Given the description of an element on the screen output the (x, y) to click on. 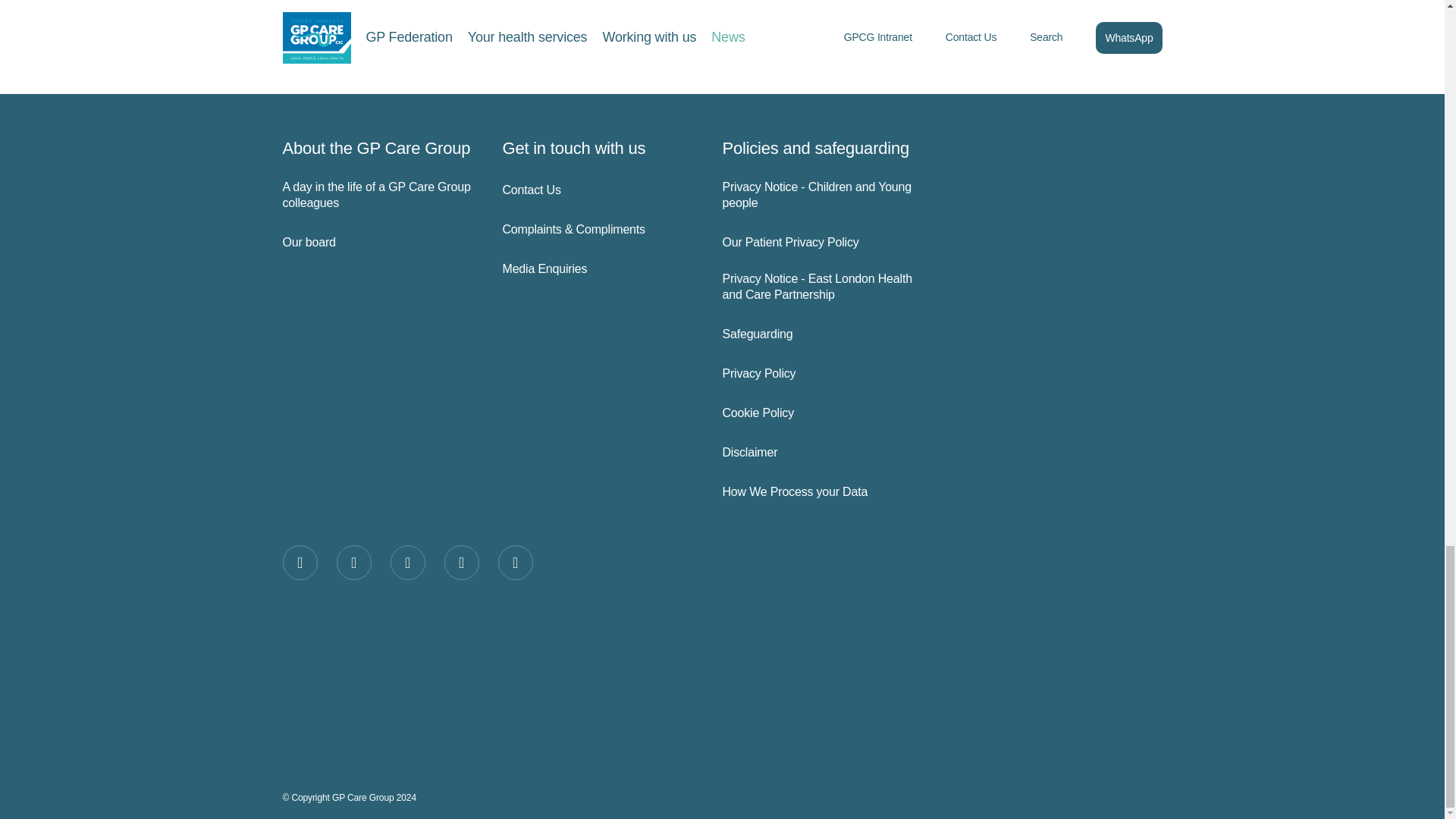
Twitter (353, 562)
Cookie Policy (818, 413)
Study on time-restricted eating (517, 46)
Youtube (514, 562)
A day in the life of a GP Care Group colleagues (379, 195)
Safeguarding (818, 334)
Privacy Policy (818, 374)
Contact Us (598, 190)
Privacy Notice - Children and Young people (818, 195)
Facebook (299, 562)
